Given the description of an element on the screen output the (x, y) to click on. 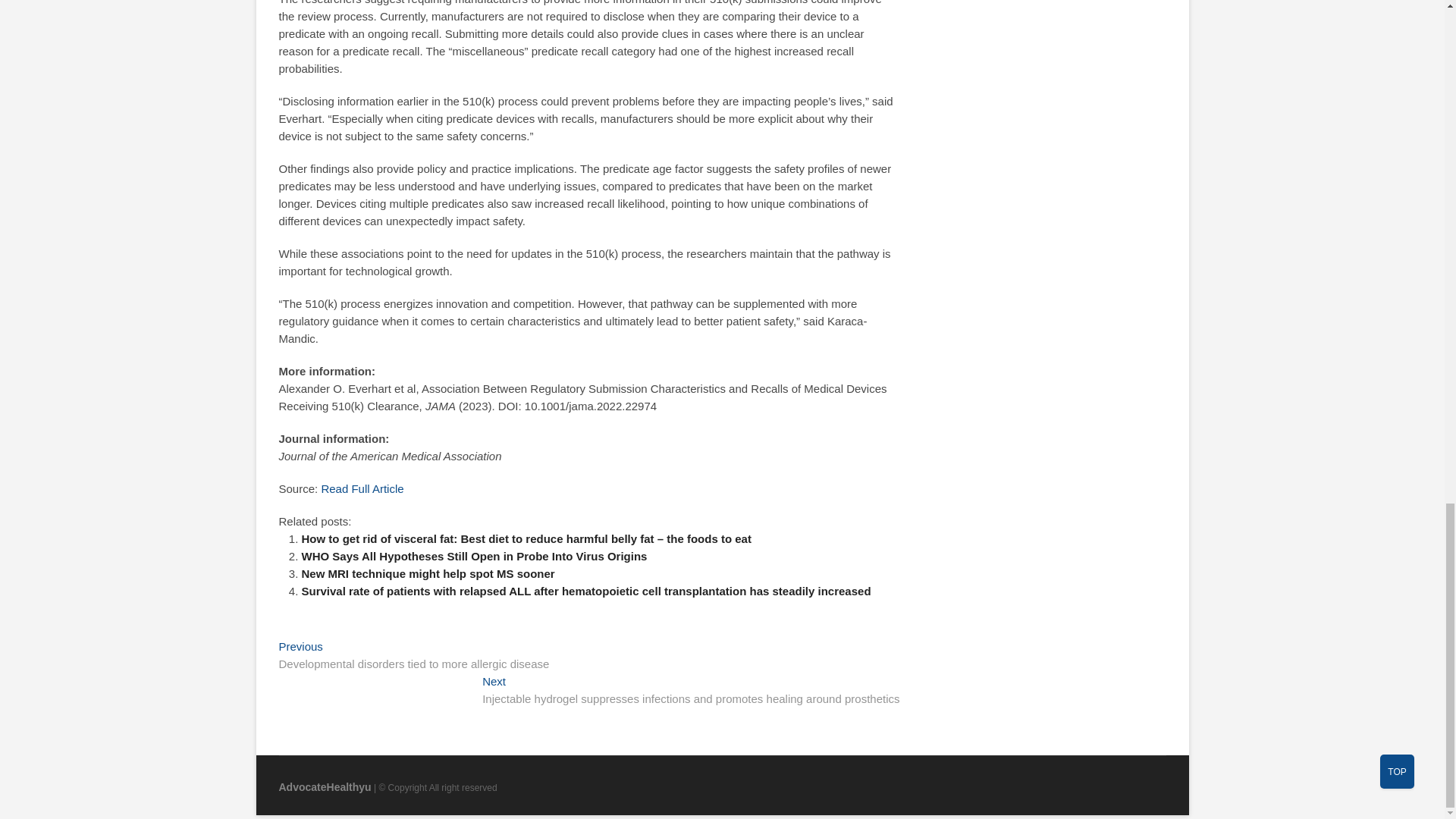
Read Full Article (361, 488)
New MRI technique might help spot MS sooner (427, 573)
New MRI technique might help spot MS sooner (427, 573)
